Given the description of an element on the screen output the (x, y) to click on. 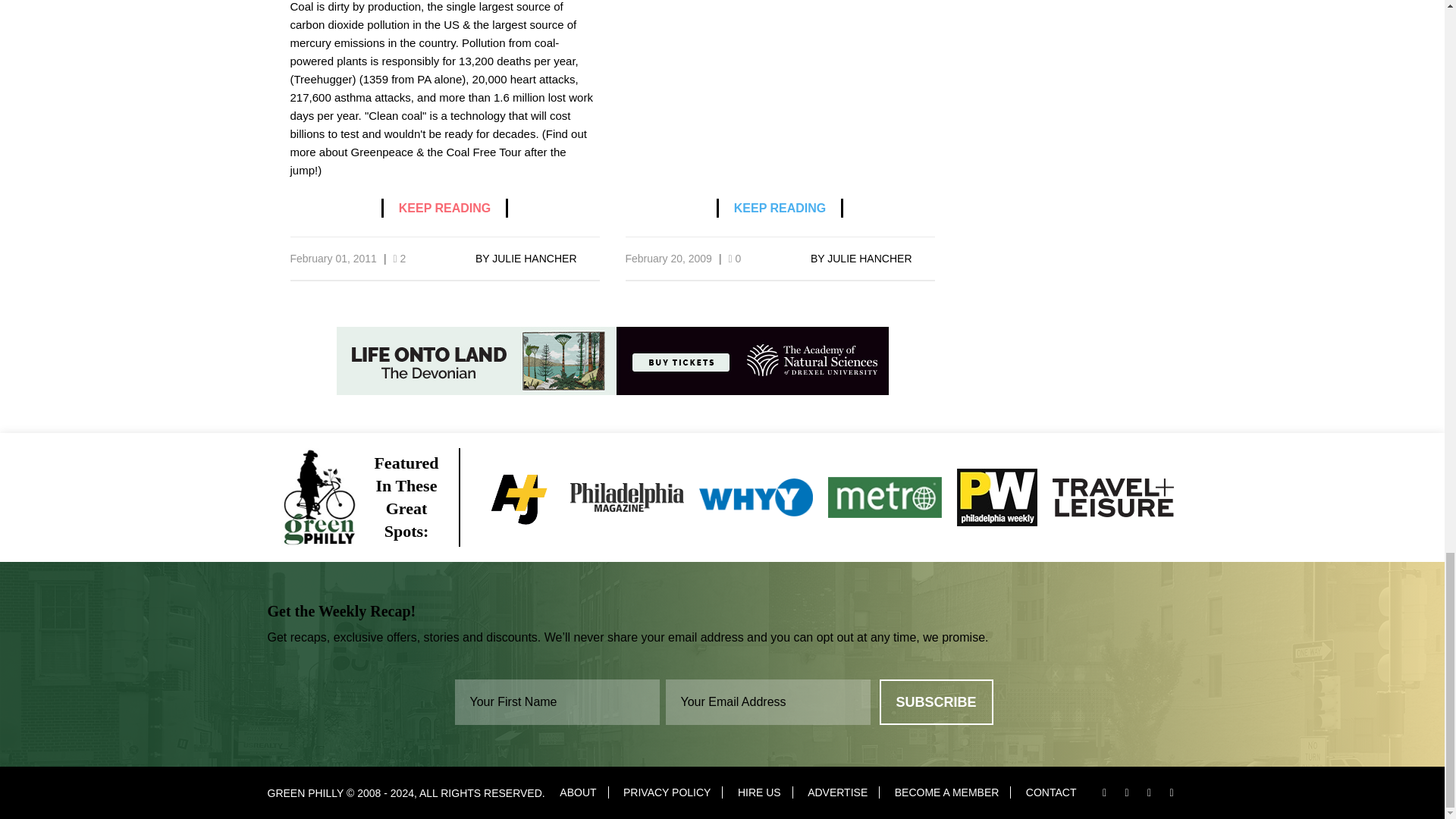
Subscribe (935, 701)
